Given the description of an element on the screen output the (x, y) to click on. 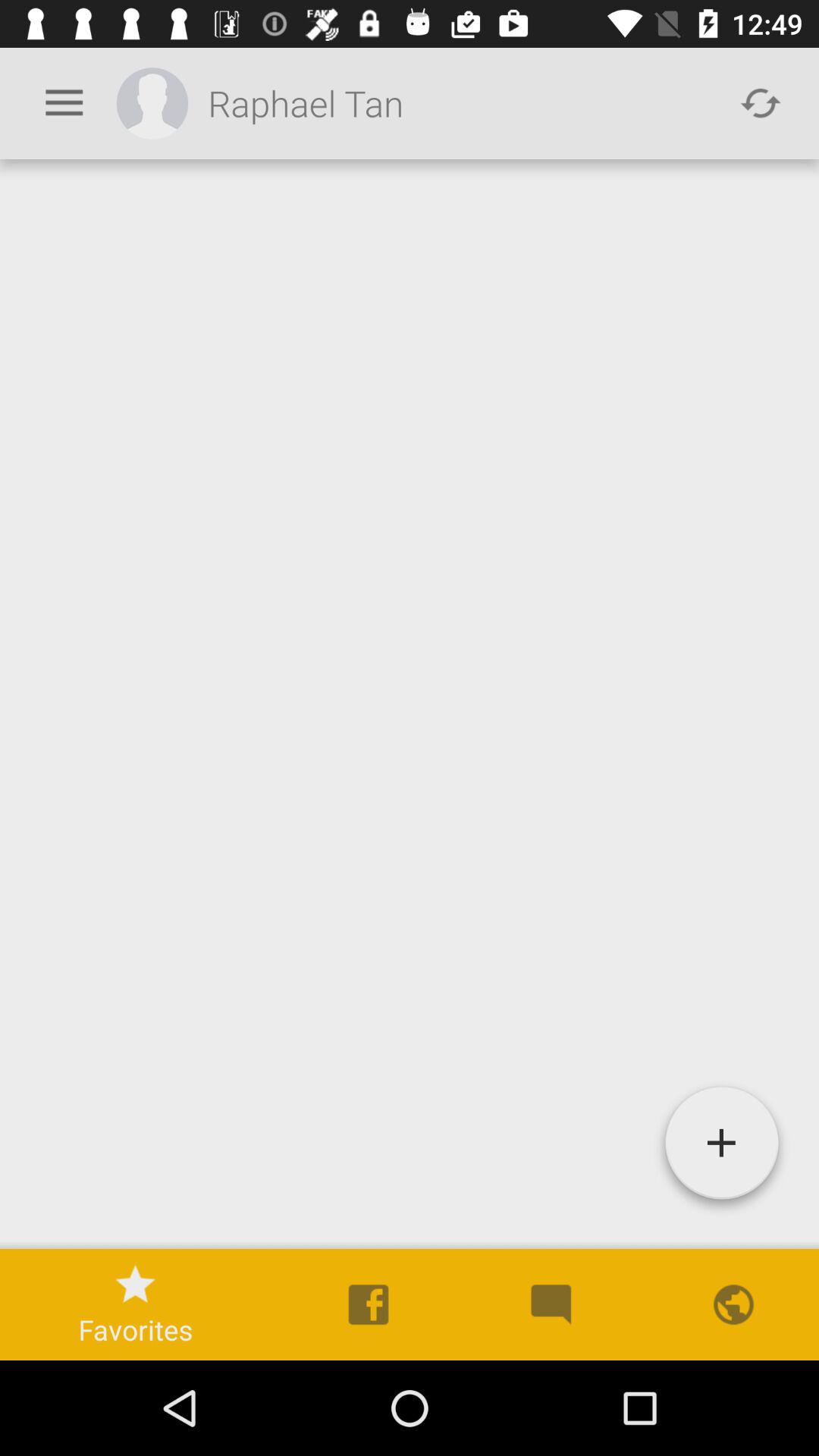
click the refresh icon (750, 102)
select the text next to the user profile (461, 103)
click the last icon above the navigation bar (730, 1304)
